Given the description of an element on the screen output the (x, y) to click on. 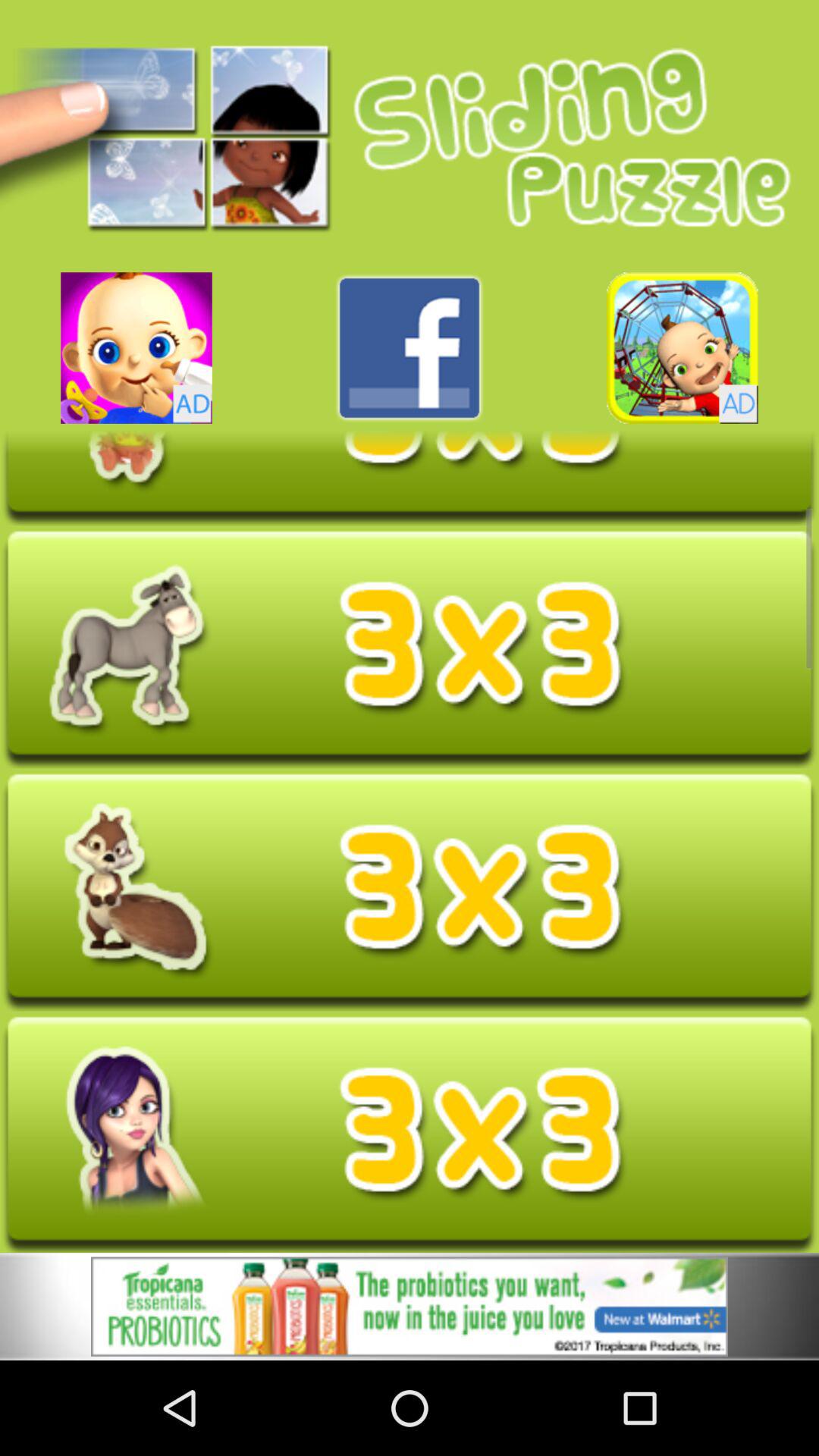
open advertisement (409, 1306)
